Given the description of an element on the screen output the (x, y) to click on. 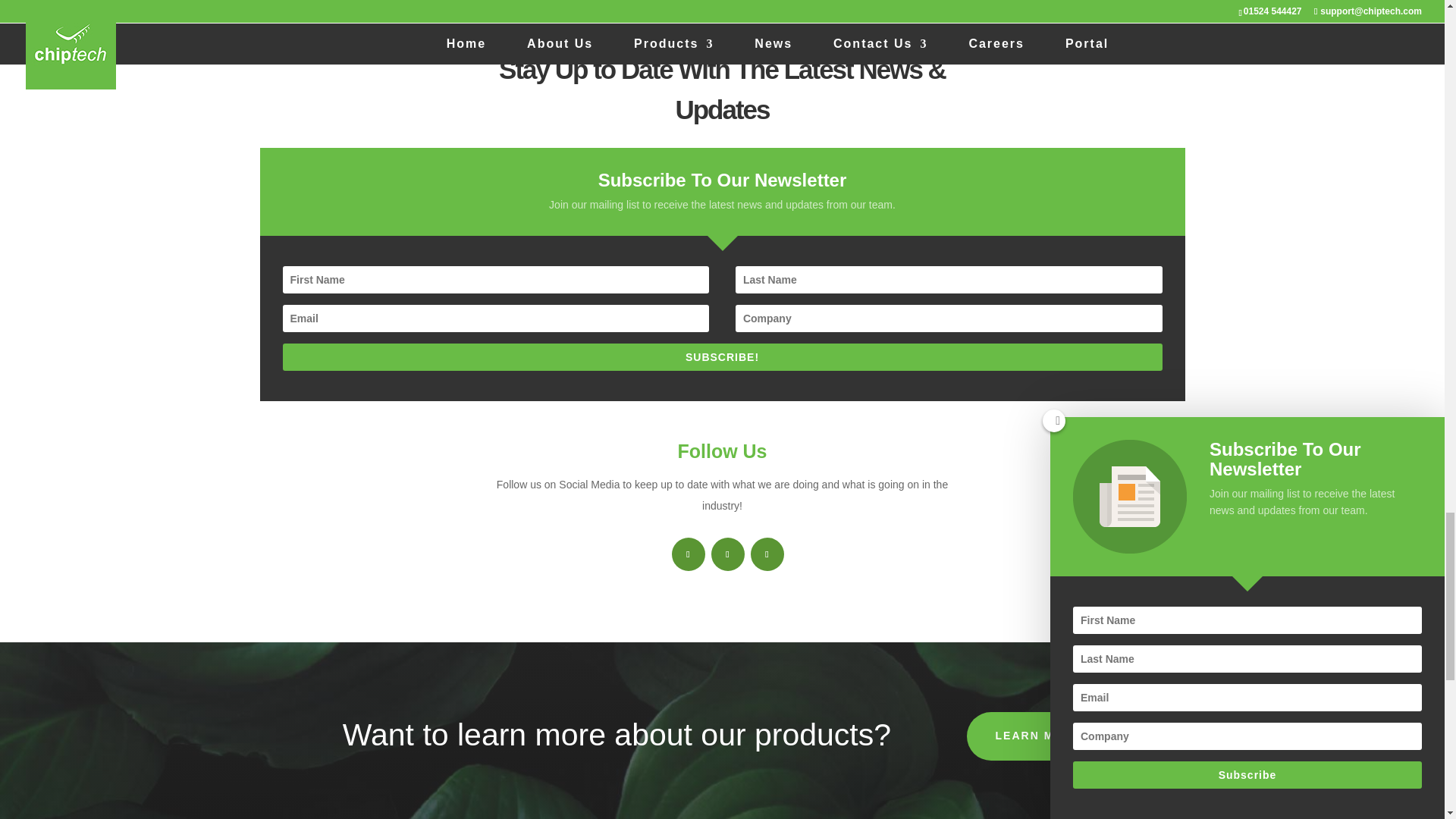
Follow on X (727, 553)
Follow on Facebook (687, 553)
Follow on LinkedIn (767, 553)
